Given the description of an element on the screen output the (x, y) to click on. 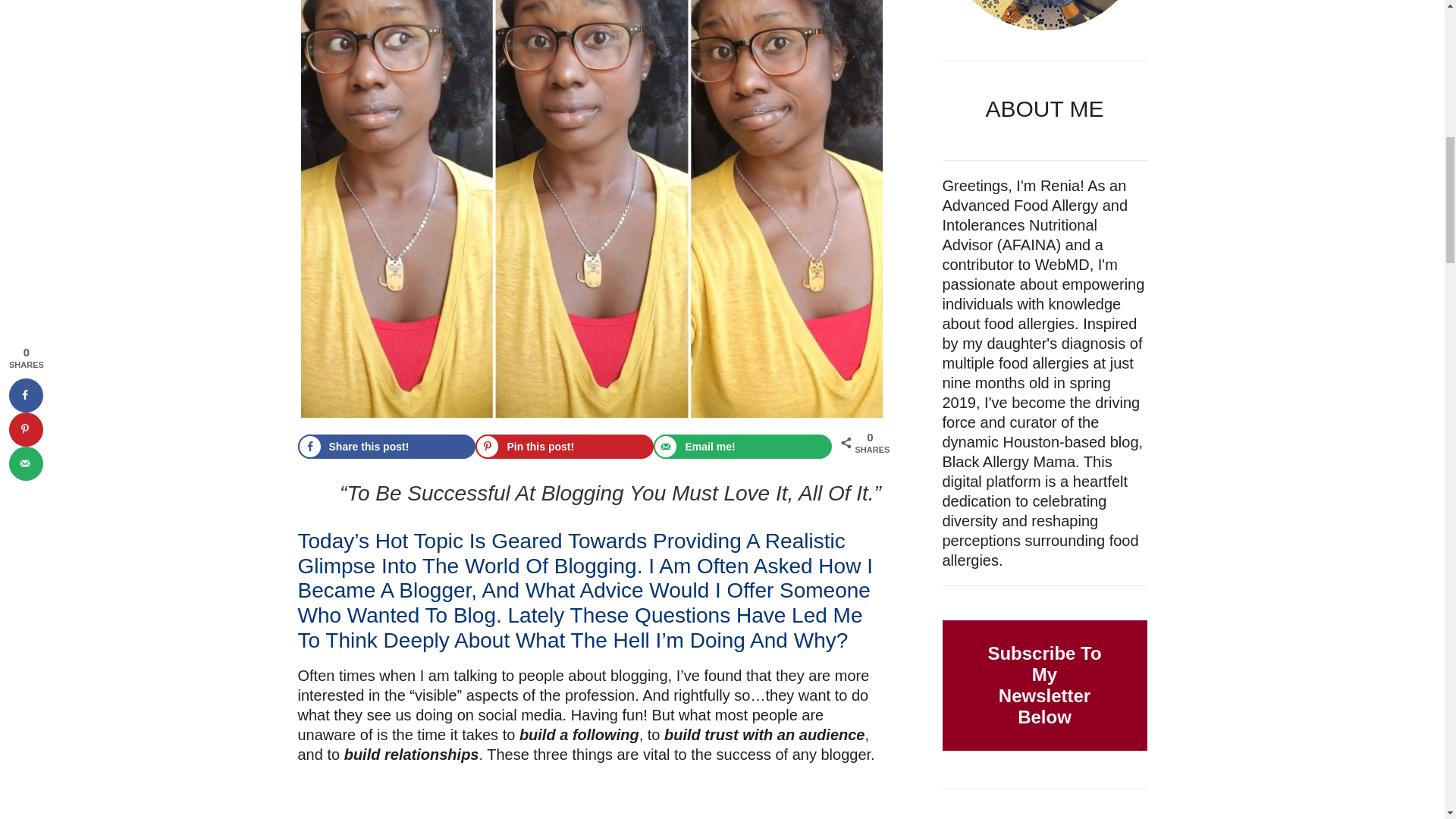
Pin this post! (564, 446)
Share on Facebook (386, 446)
Email me! (742, 446)
Send over email (742, 446)
Share this post! (386, 446)
Save to Pinterest (564, 446)
